Given the description of an element on the screen output the (x, y) to click on. 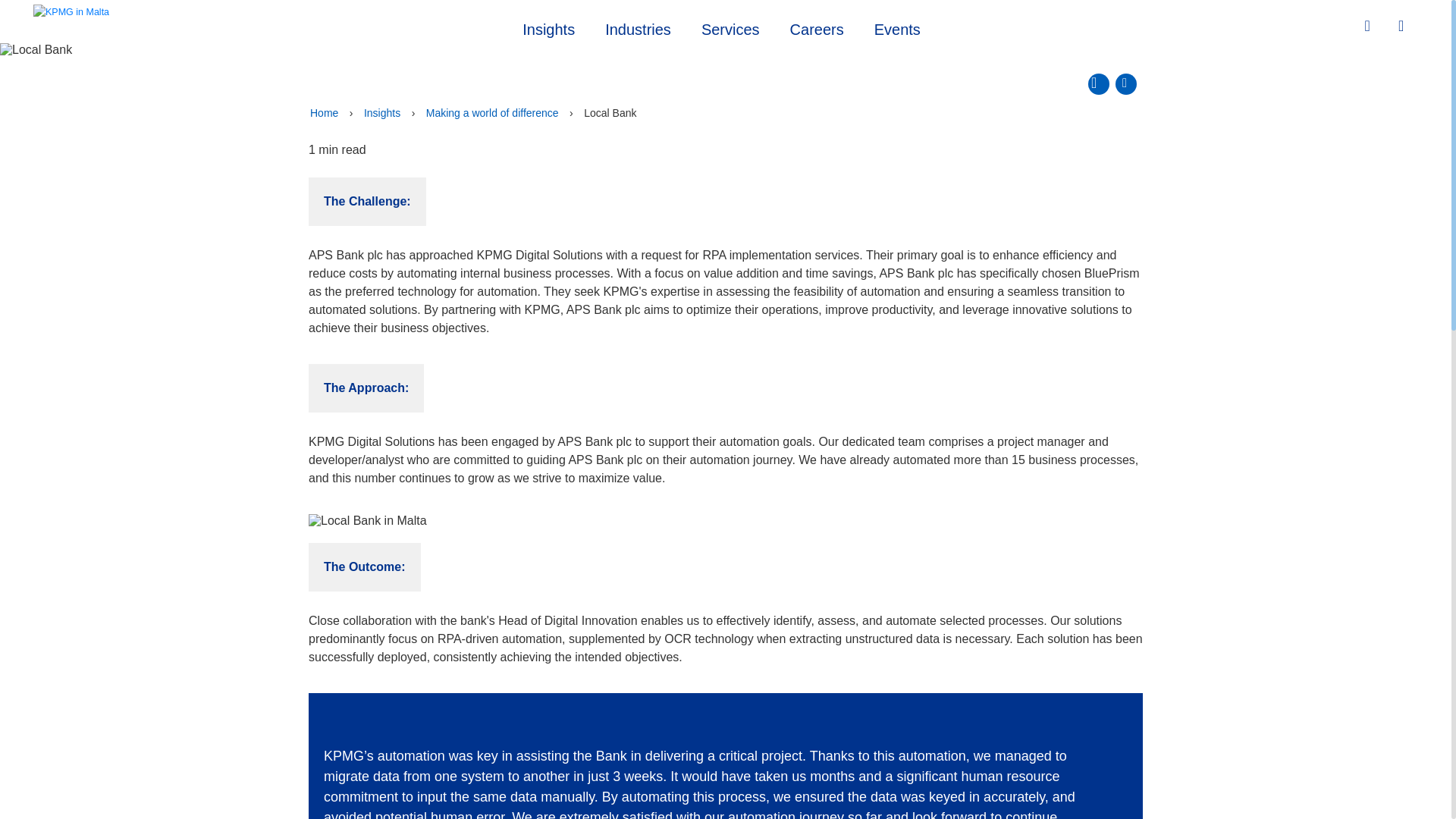
Insights (381, 112)
Services (729, 27)
Industries (637, 27)
Insights (547, 27)
Careers (816, 27)
Search (1369, 26)
Site Selector (1402, 26)
Home (323, 112)
Go to bottom of page (1126, 84)
